Given the description of an element on the screen output the (x, y) to click on. 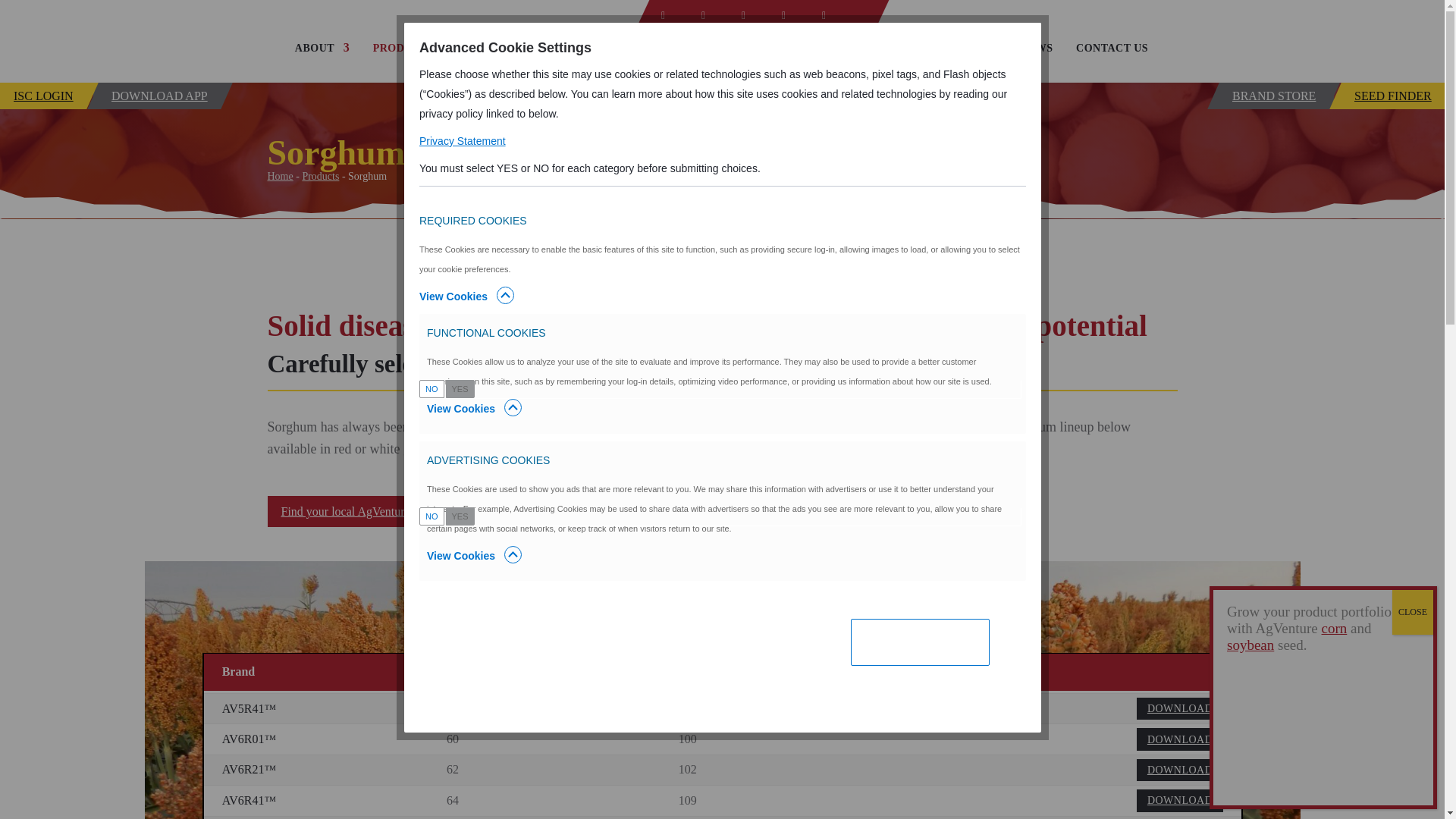
PRODUCTS (410, 62)
JOIN OUR NETWORK (530, 62)
DOWNLOAD APP (156, 95)
BRAND STORE (1276, 95)
TECHNOLOGY (949, 62)
ABOUT (322, 62)
CONTACT US (1111, 62)
ISC LOGIN (42, 95)
NEWS (1036, 62)
